Given the description of an element on the screen output the (x, y) to click on. 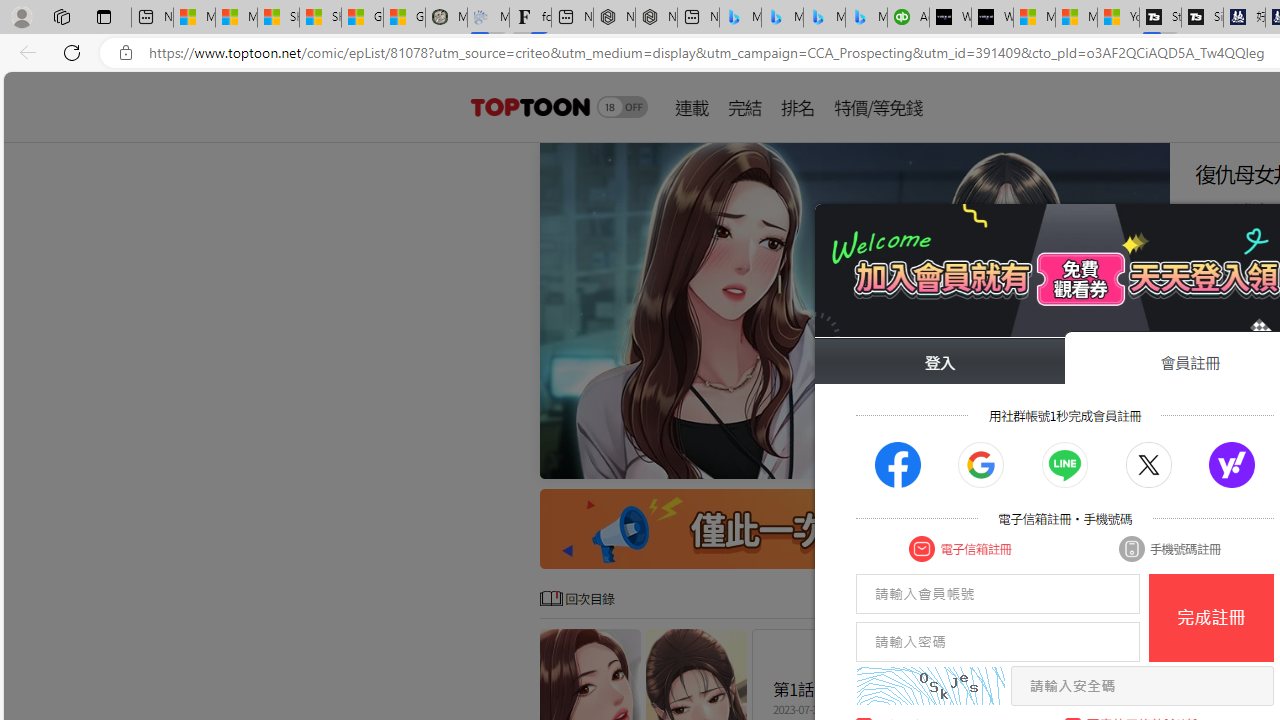
Microsoft Bing Travel - Shangri-La Hotel Bangkok (866, 17)
Class: socialBtn actionSocialJoinBtn (1232, 465)
captcha (930, 686)
Microsoft Bing Travel - Stays in Bangkok, Bangkok, Thailand (781, 17)
